Given the description of an element on the screen output the (x, y) to click on. 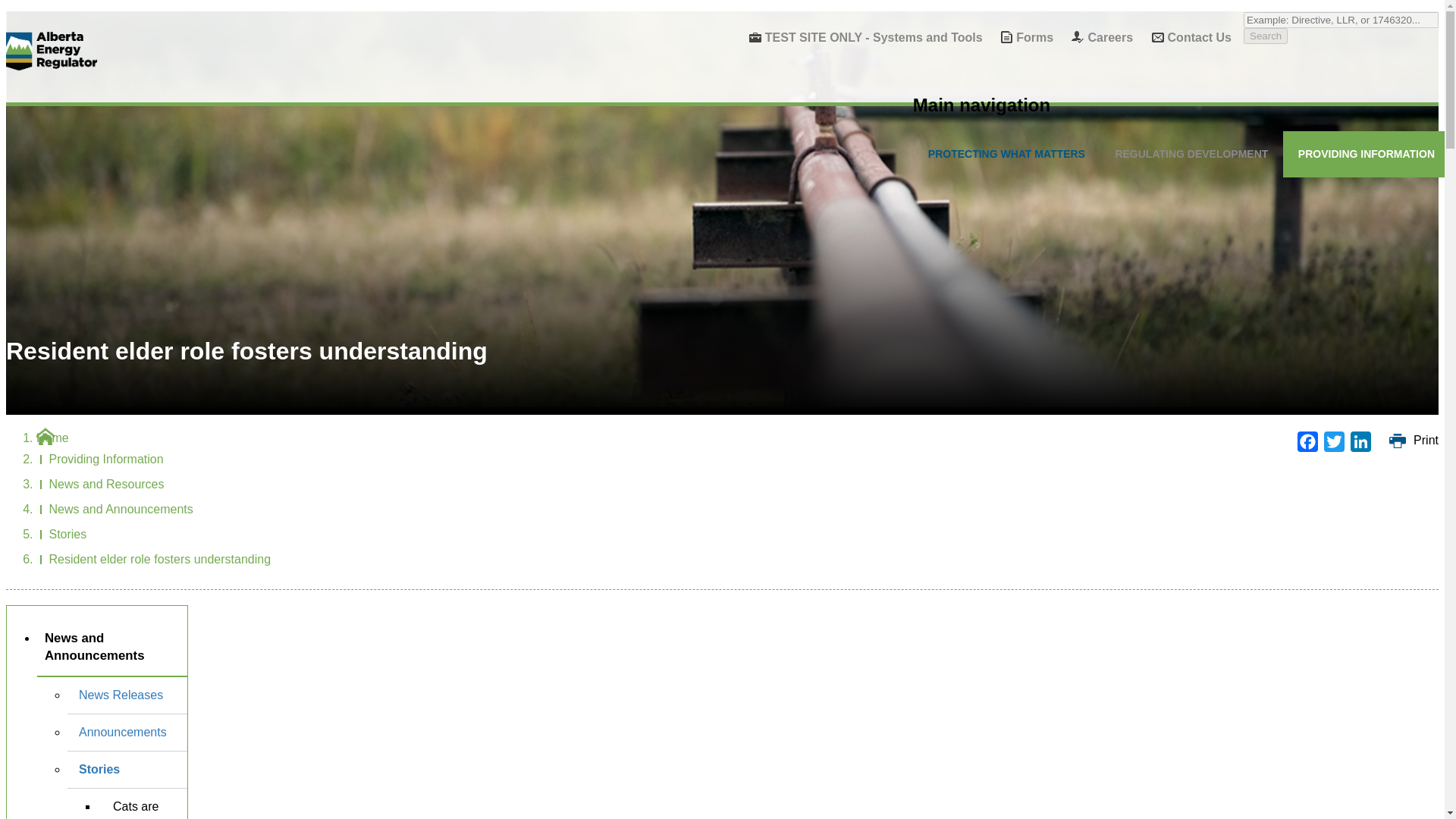
TEST SITE ONLY - Systems and Tools (857, 37)
Search (1265, 35)
Forms (1018, 37)
Contact Us (1184, 37)
Skip to main content (14, 9)
Careers (1094, 37)
PROTECTING WHAT MATTERS (1006, 154)
Home (51, 50)
